Given the description of an element on the screen output the (x, y) to click on. 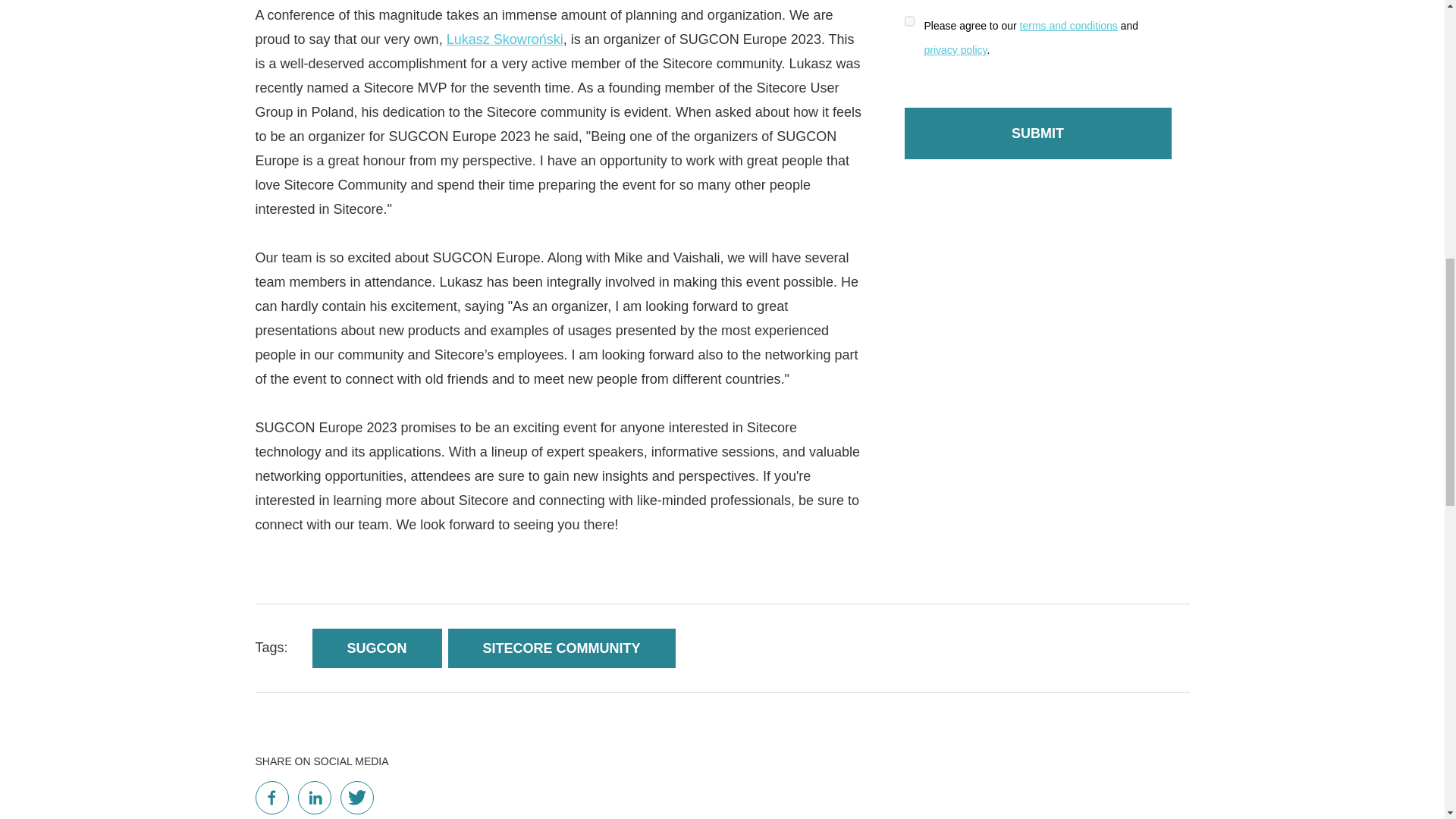
on (909, 21)
terms and conditions (1069, 25)
privacy policy (955, 50)
SITECORE COMMUNITY (561, 648)
SUGCON (377, 648)
SUBMIT (1037, 132)
